Given the description of an element on the screen output the (x, y) to click on. 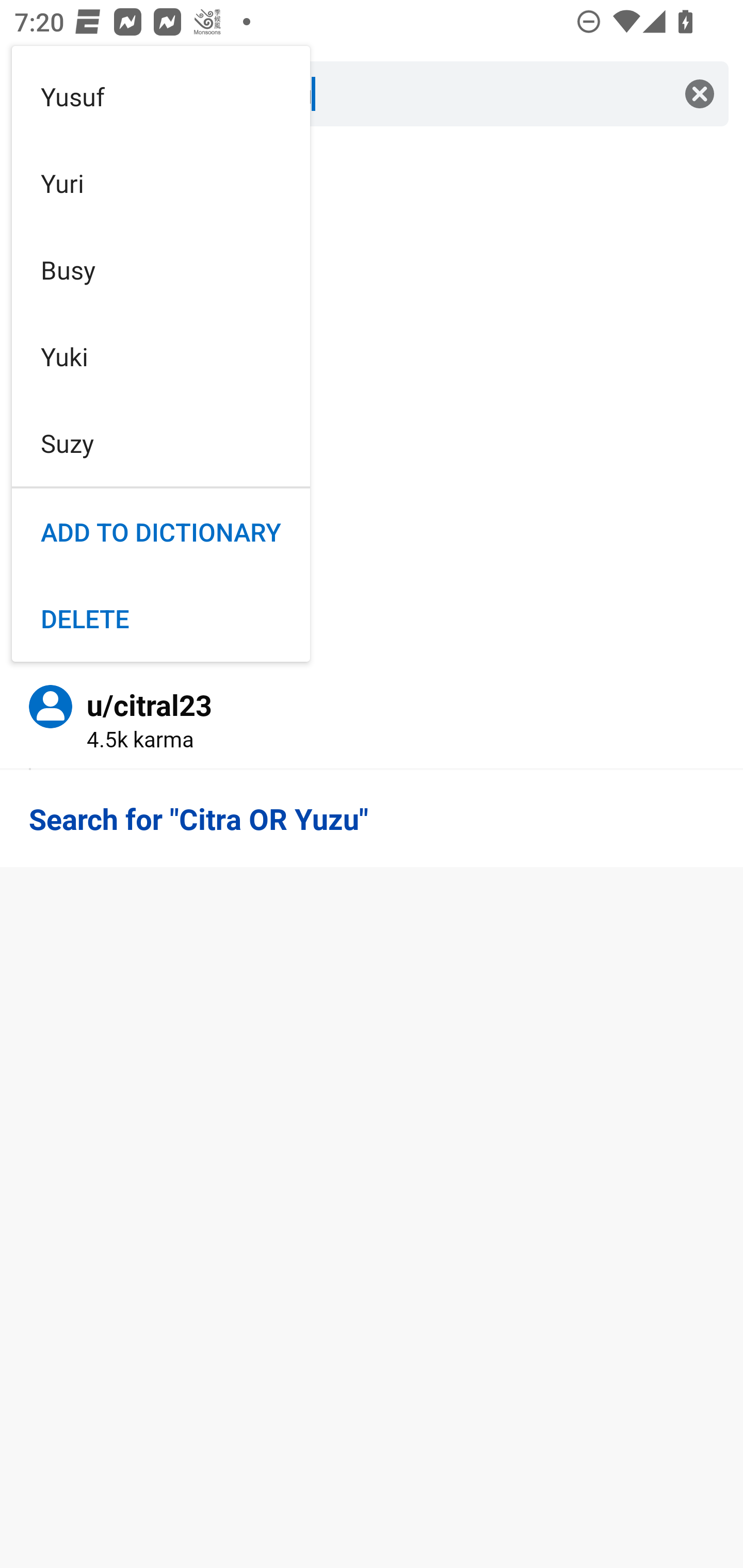
Yusuf (160, 96)
Yuri (160, 182)
Busy (160, 269)
Yuki (160, 356)
Suzy (160, 442)
ADD TO DICTIONARY (160, 532)
DELETE (160, 618)
